Given the description of an element on the screen output the (x, y) to click on. 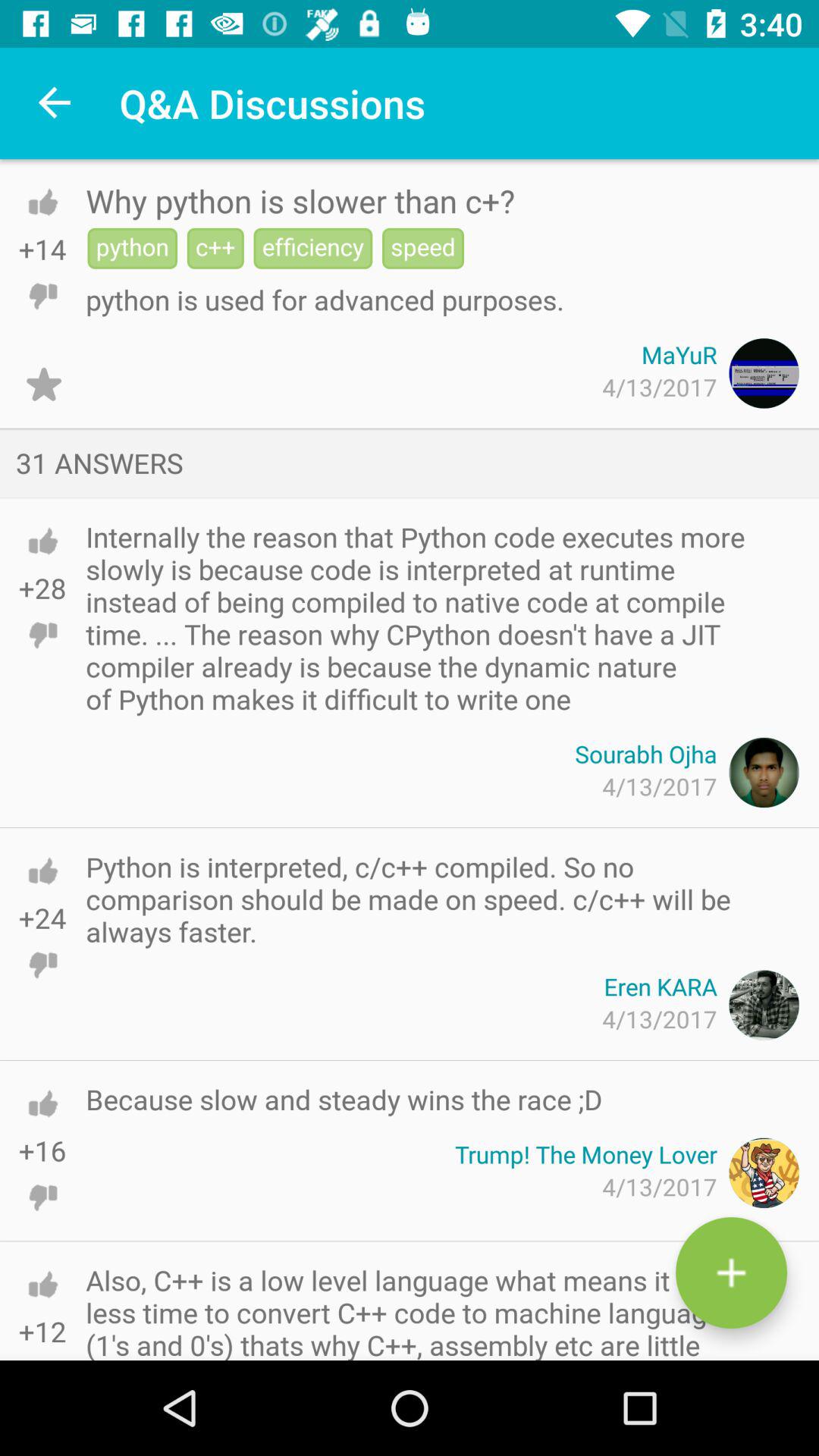
favorite current discussion (43, 384)
